Given the description of an element on the screen output the (x, y) to click on. 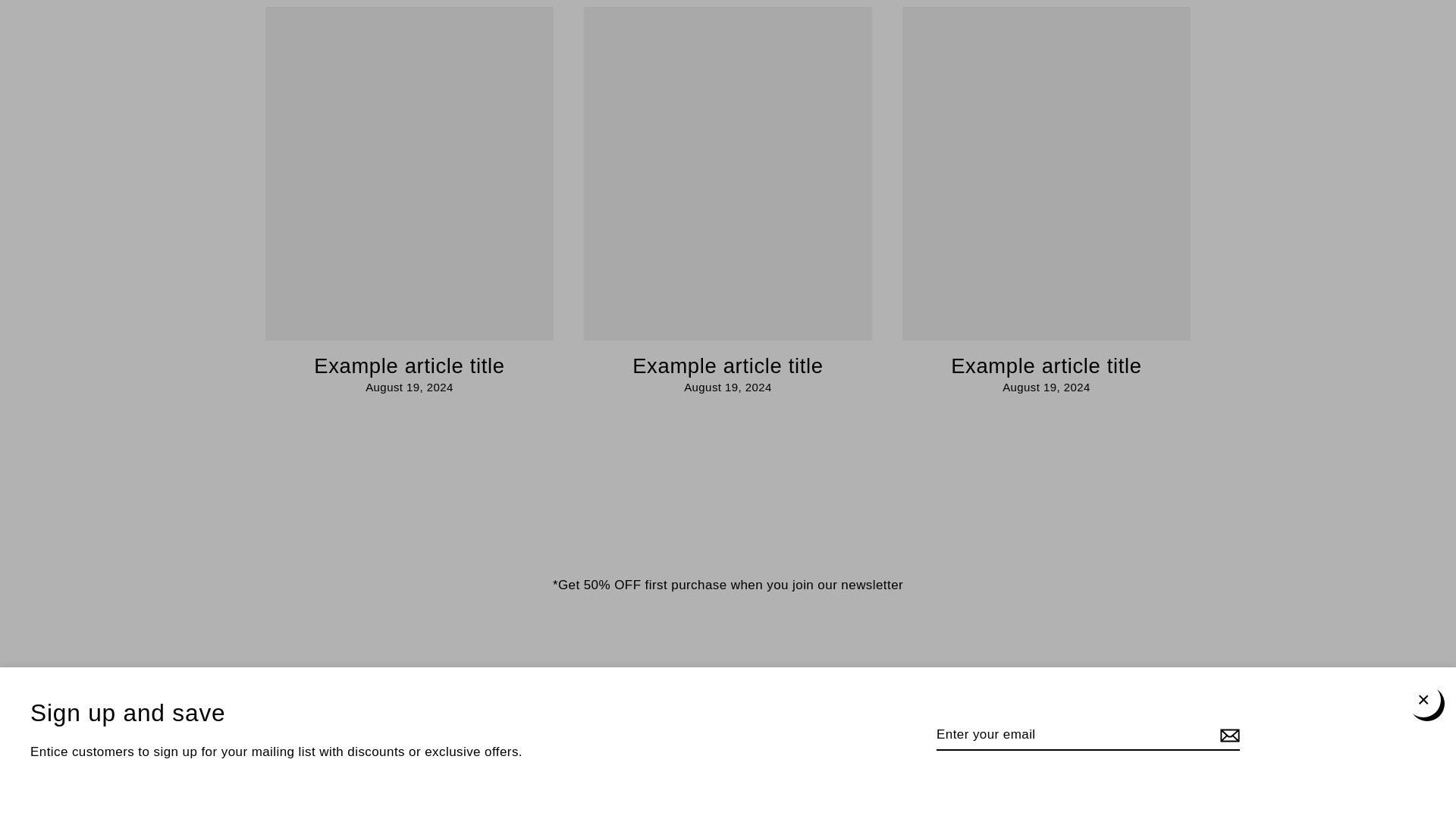
instagram (702, 753)
Body Maxx on Instagram (702, 753)
